Given the description of an element on the screen output the (x, y) to click on. 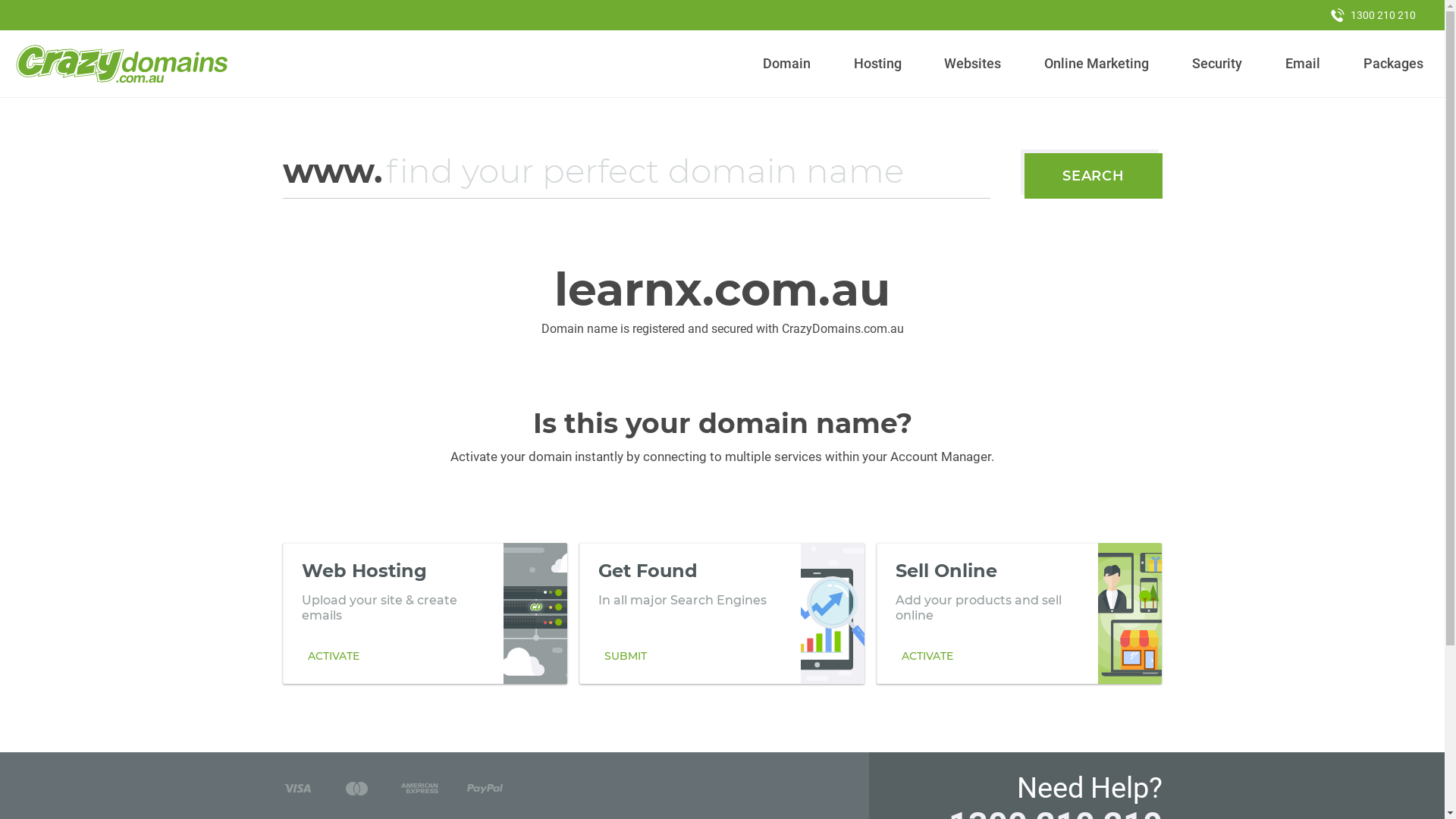
Sell Online
Add your products and sell online
ACTIVATE Element type: text (1018, 613)
Websites Element type: text (972, 63)
Security Element type: text (1217, 63)
Domain Element type: text (786, 63)
SEARCH Element type: text (1092, 175)
Online Marketing Element type: text (1096, 63)
Get Found
In all major Search Engines
SUBMIT Element type: text (721, 613)
Packages Element type: text (1392, 63)
Hosting Element type: text (877, 63)
1300 210 210 Element type: text (1373, 15)
Email Element type: text (1302, 63)
Web Hosting
Upload your site & create emails
ACTIVATE Element type: text (424, 613)
